Given the description of an element on the screen output the (x, y) to click on. 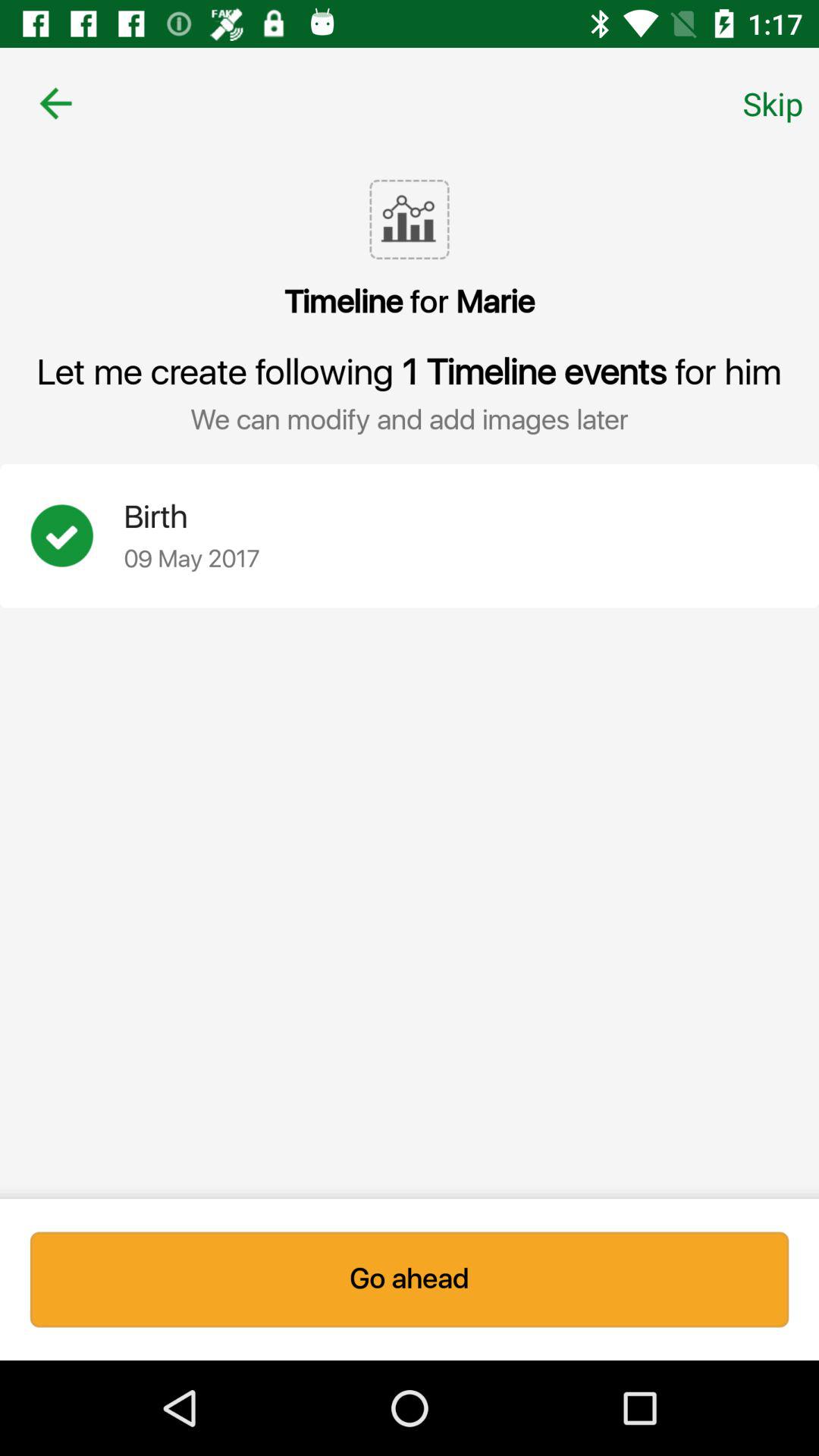
click the item above the go ahead icon (76, 535)
